Given the description of an element on the screen output the (x, y) to click on. 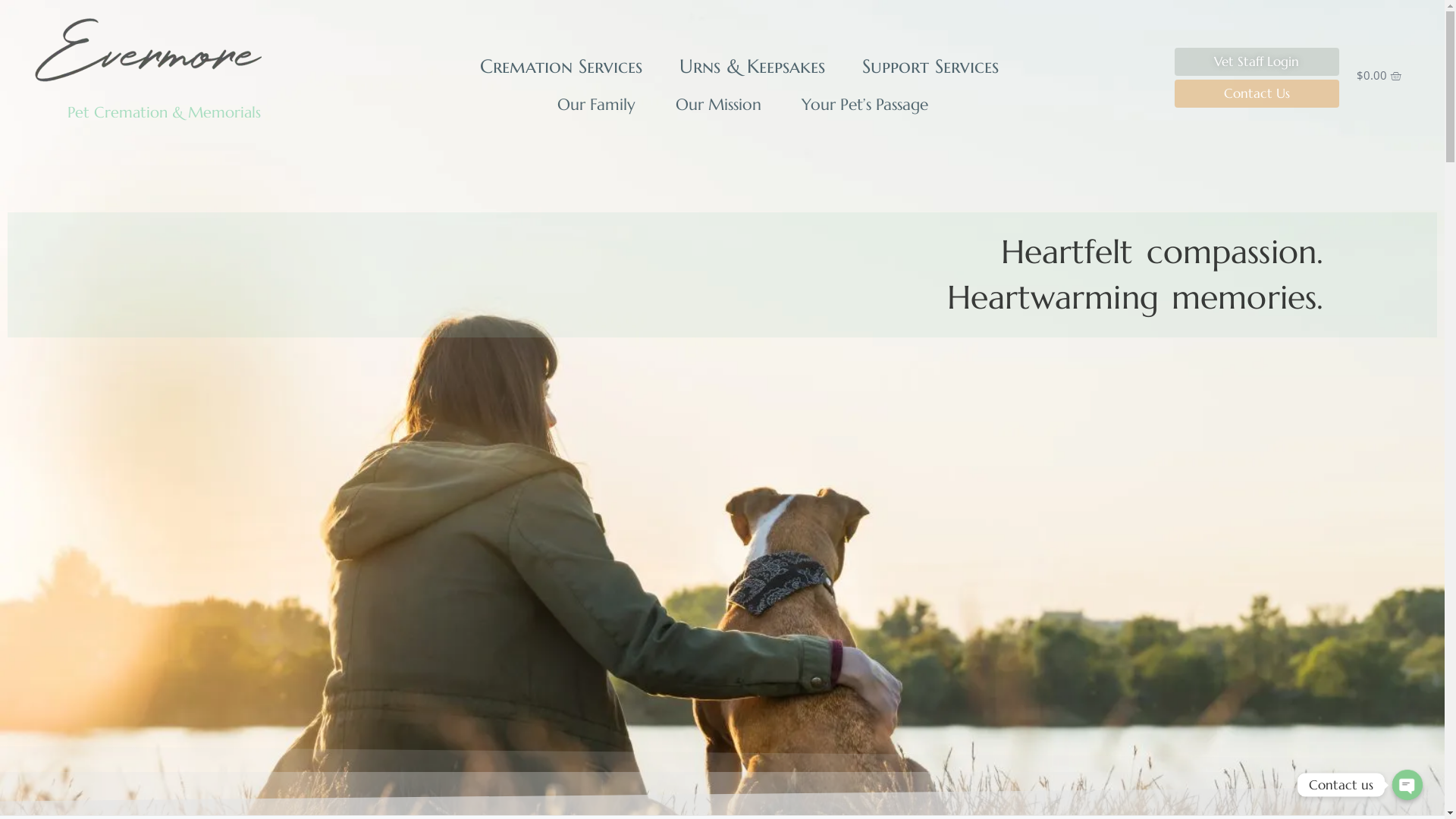
Support Services Element type: text (933, 66)
Cremation Services Element type: text (564, 66)
Urns & Keepsakes Element type: text (755, 66)
Our Family Element type: text (596, 103)
Contact Us Element type: text (1256, 93)
Vet Staff Login Element type: text (1256, 61)
$0.00 Element type: text (1379, 75)
Our Mission Element type: text (718, 103)
